Given the description of an element on the screen output the (x, y) to click on. 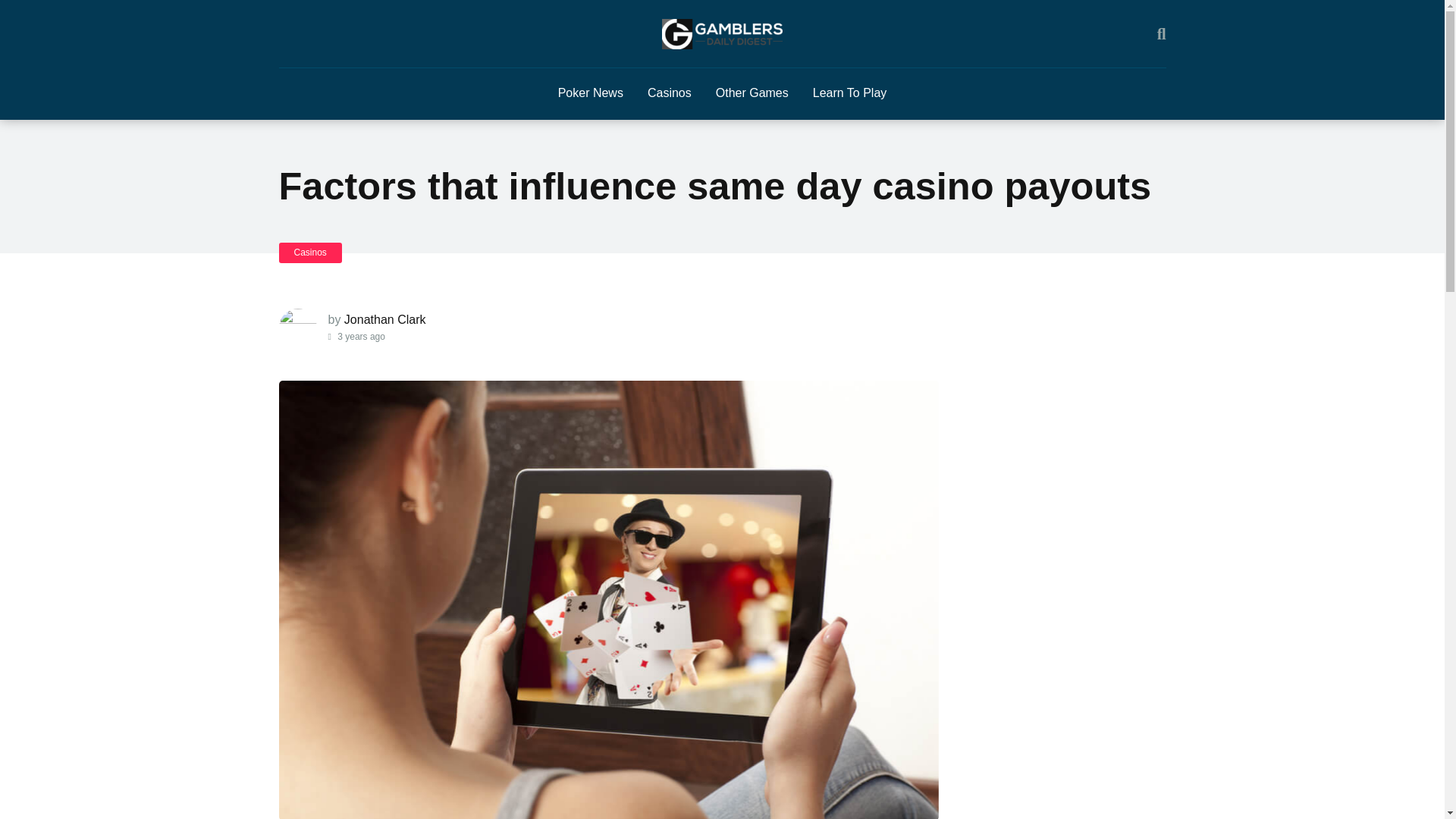
Casinos (310, 252)
Casinos (668, 93)
Learn To Play (849, 93)
Other Games (751, 93)
Posts by Jonathan Clark (384, 318)
Jonathan Clark (384, 318)
Poker News (590, 93)
Gamblers Daily Digest - (722, 33)
